Given the description of an element on the screen output the (x, y) to click on. 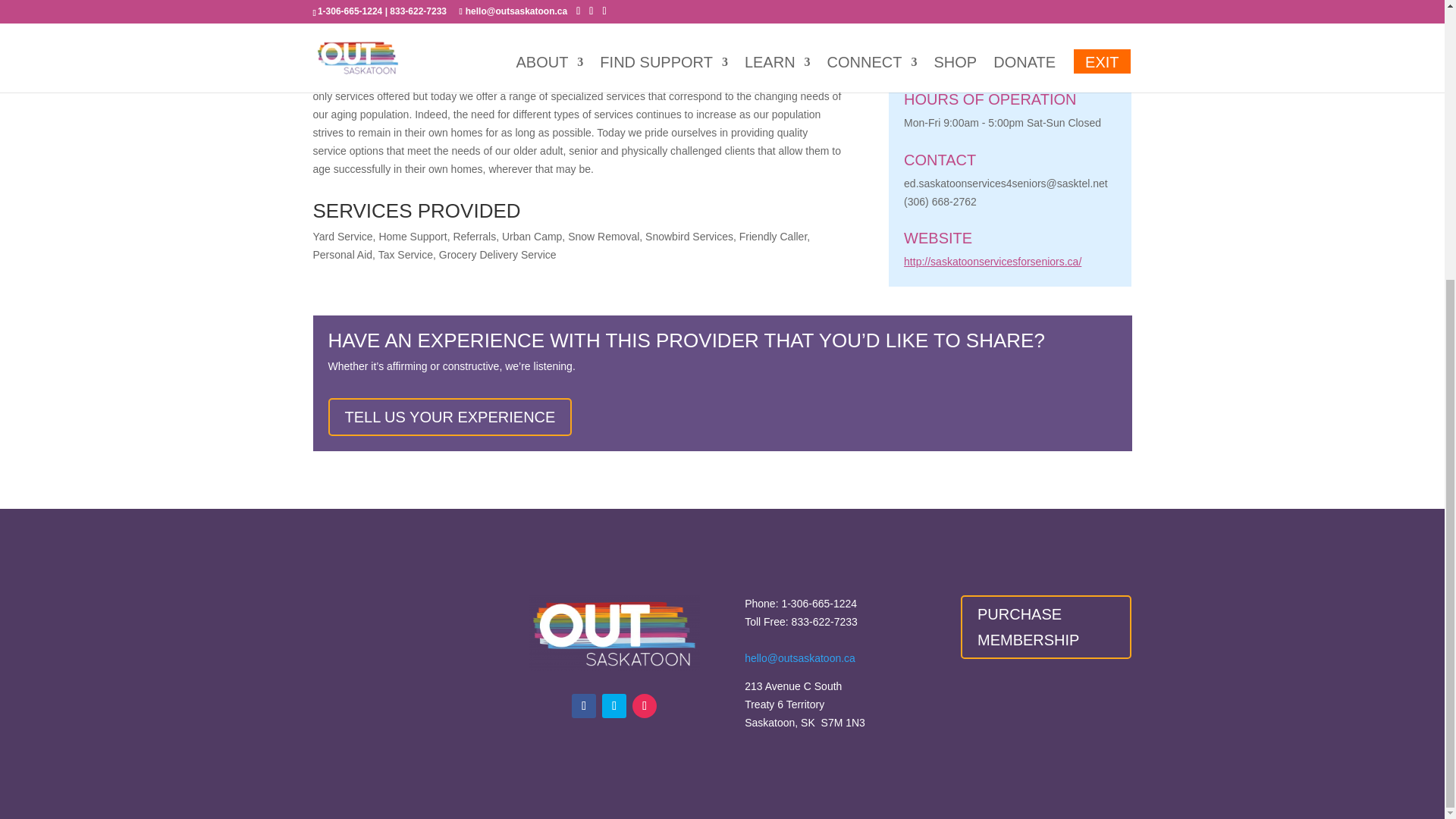
Follow on Instagram (643, 705)
Follow on Twitter (614, 705)
Follow on Facebook (583, 705)
